Given the description of an element on the screen output the (x, y) to click on. 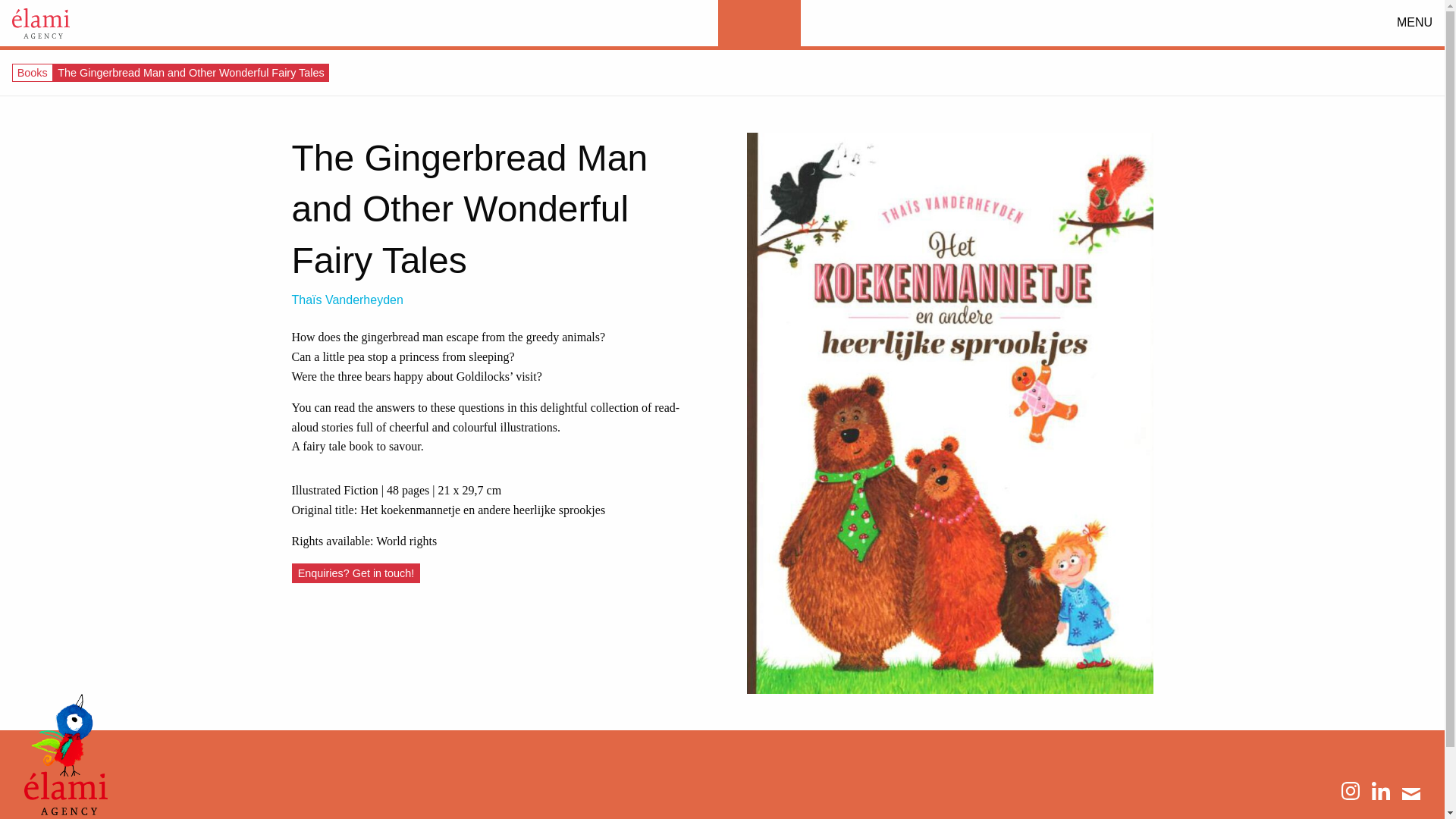
World rights (405, 540)
Books (32, 72)
Enquiries? Get in touch! (355, 573)
